Given the description of an element on the screen output the (x, y) to click on. 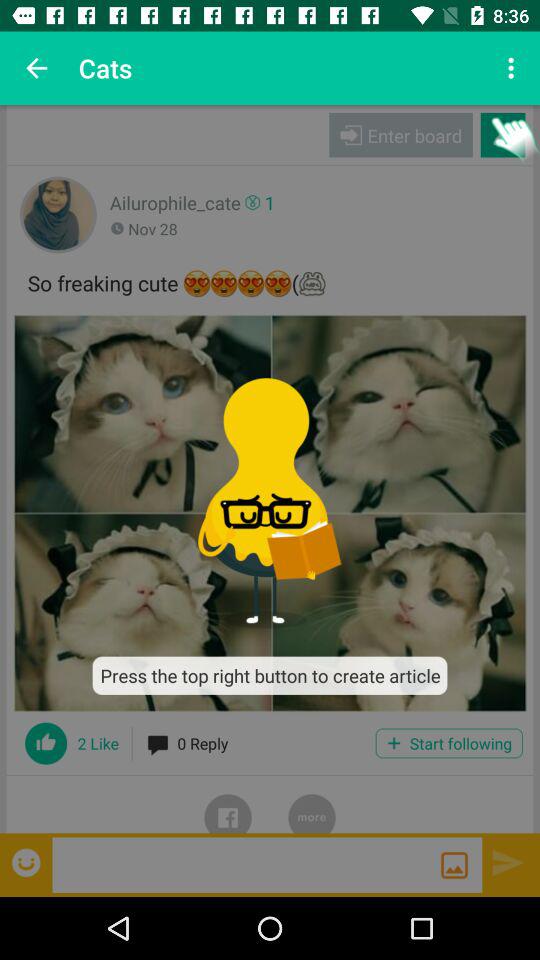
launch the icon next to the cats app (36, 68)
